Given the description of an element on the screen output the (x, y) to click on. 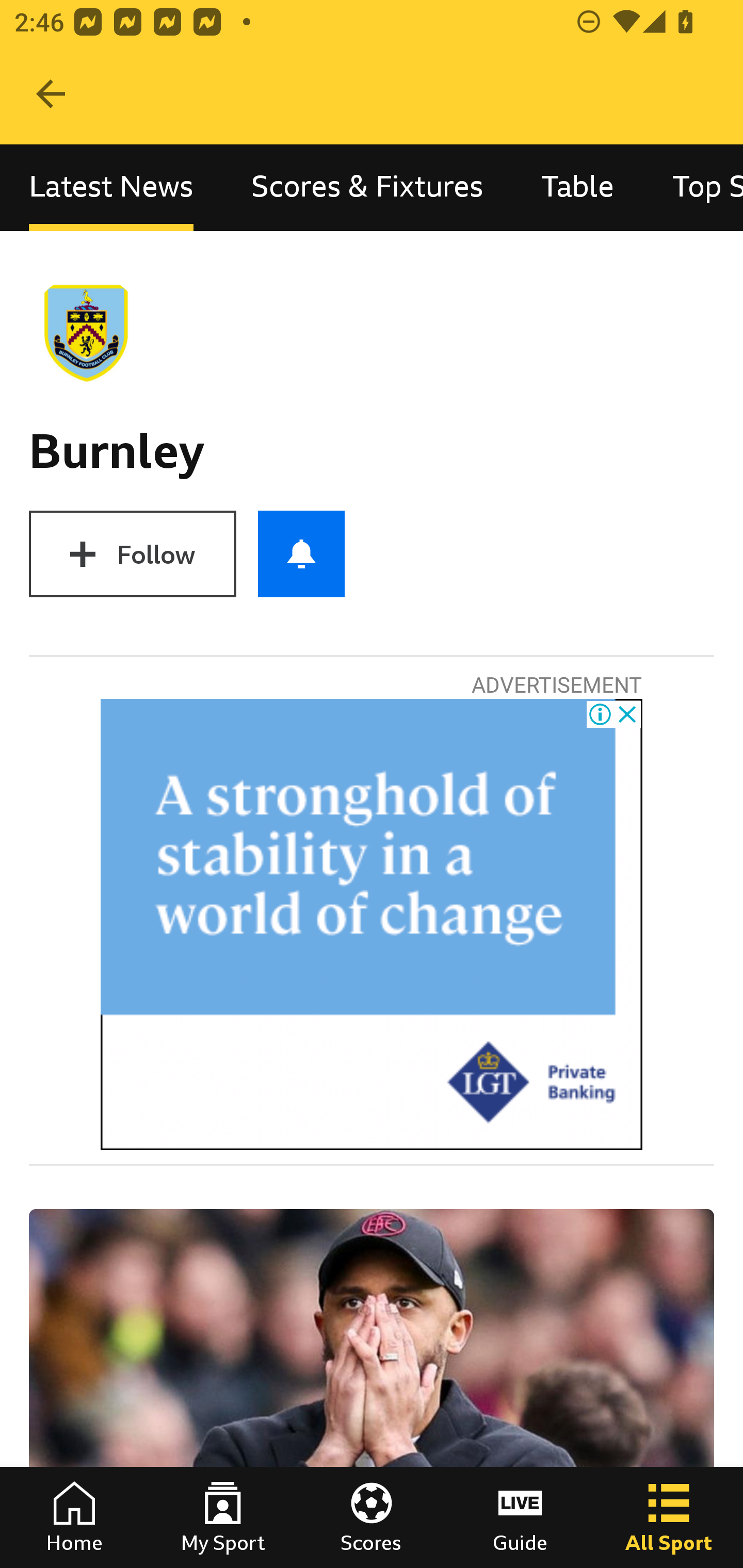
Navigate up (50, 93)
Latest News, selected Latest News (111, 187)
Scores & Fixtures (367, 187)
Table (577, 187)
Top Scorers (693, 187)
Follow Burnley Follow (132, 554)
Push notifications for Burnley (300, 554)
Advertisement (371, 924)
Home (74, 1517)
My Sport (222, 1517)
Scores (371, 1517)
Guide (519, 1517)
